Given the description of an element on the screen output the (x, y) to click on. 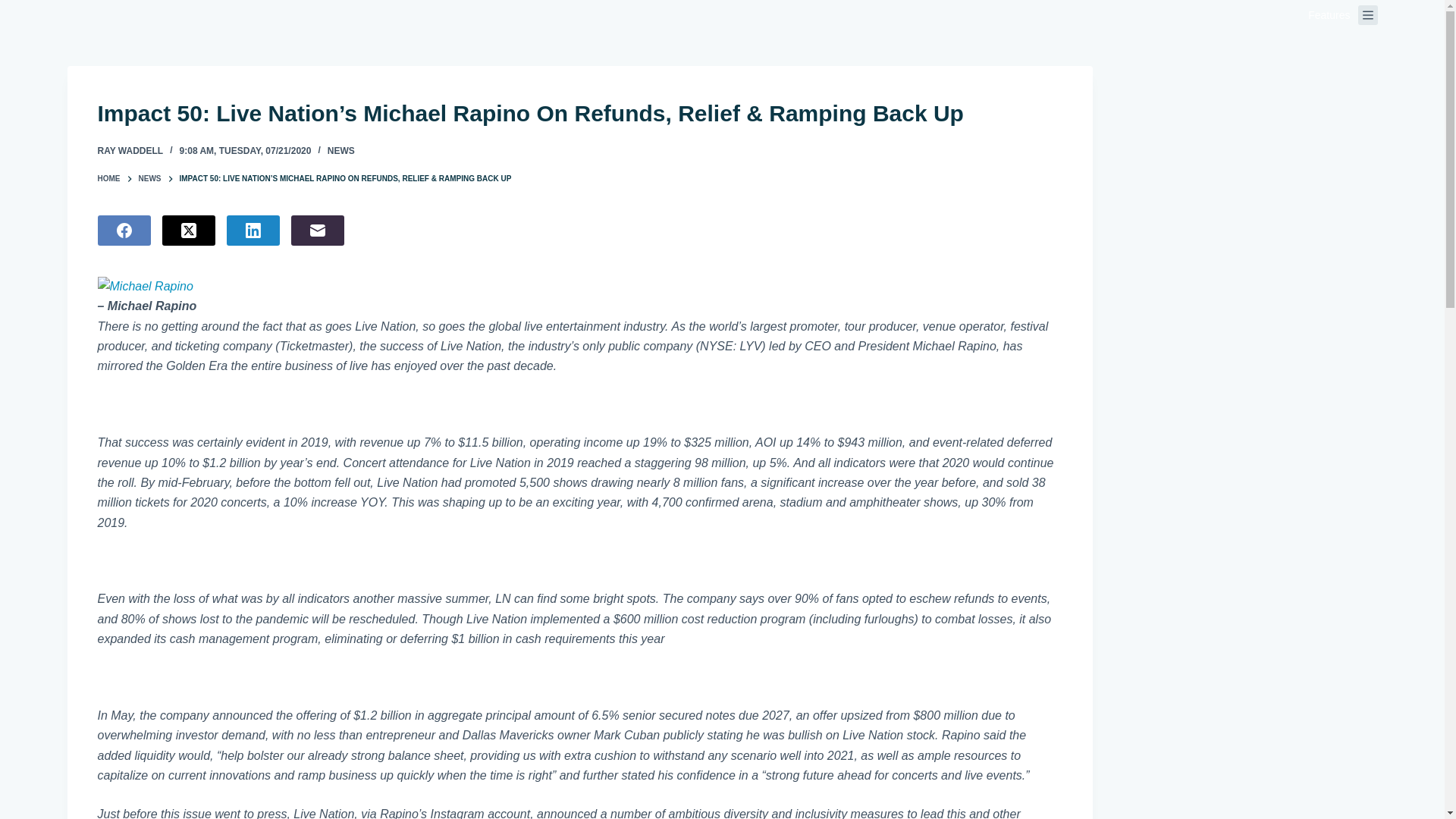
Michael Rapino  (579, 296)
Posts by Ray Waddell (130, 150)
Skip to content (15, 7)
